Given the description of an element on the screen output the (x, y) to click on. 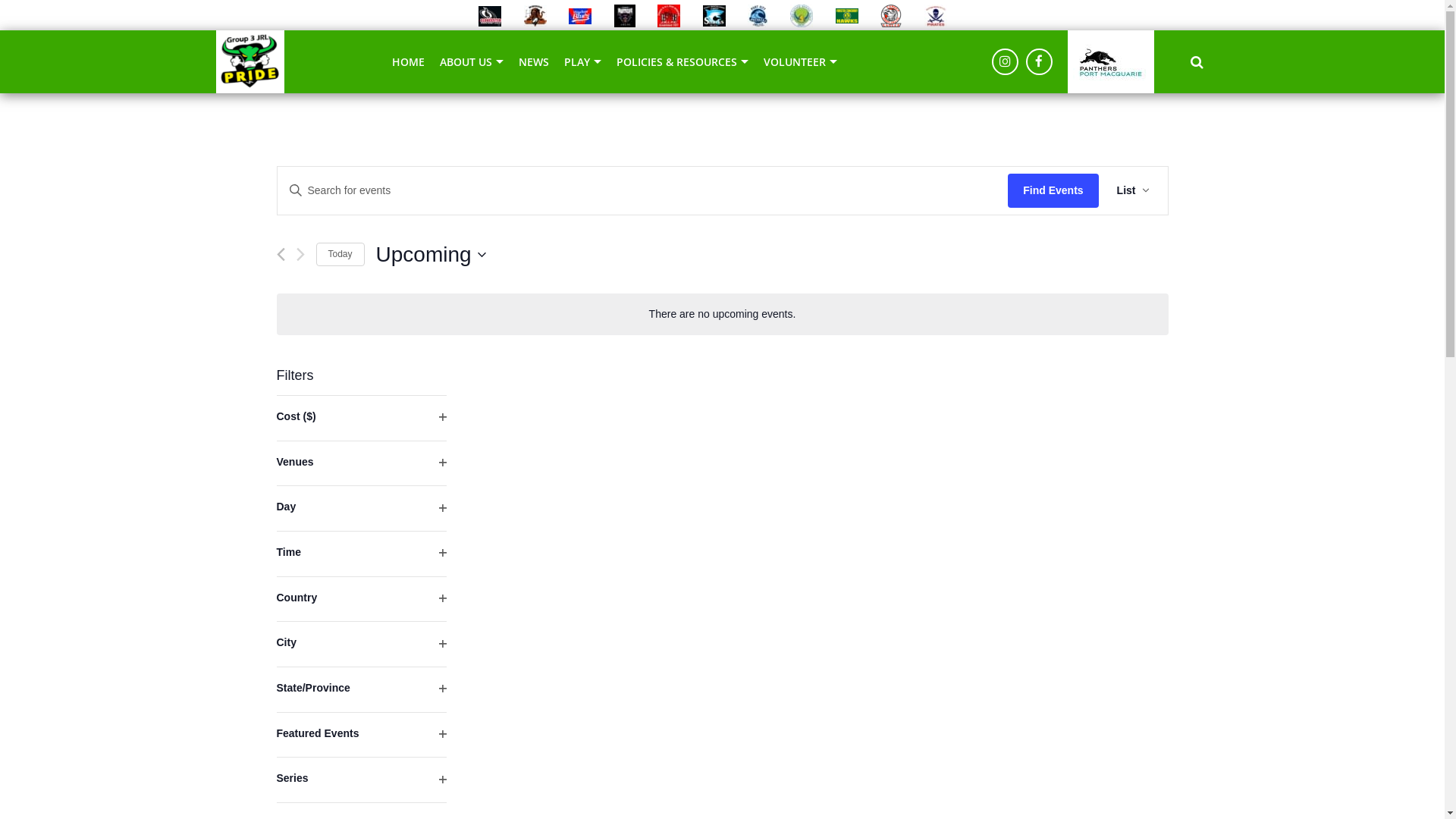
Upcoming Element type: text (431, 254)
VOLUNTEER Element type: text (800, 61)
Today Element type: text (339, 254)
City
Open filter Element type: text (360, 643)
Cost ($)
Open filter Element type: text (360, 417)
PLAY Element type: text (582, 61)
Previous Events Element type: hover (280, 254)
State/Province
Open filter Element type: text (360, 689)
Country
Open filter Element type: text (360, 599)
POLICIES & RESOURCES Element type: text (682, 61)
Venues
Open filter Element type: text (360, 463)
Time
Open filter Element type: text (360, 553)
List Element type: text (1132, 190)
Search Element type: hover (1196, 61)
ABOUT US Element type: text (471, 61)
Series
Open filter Element type: text (360, 779)
Day
Open filter Element type: text (360, 508)
Next Events Element type: hover (299, 254)
Featured Events
Open filter Element type: text (360, 734)
HOME Element type: text (408, 61)
NEWS Element type: text (533, 61)
Find Events Element type: text (1052, 190)
